Given the description of an element on the screen output the (x, y) to click on. 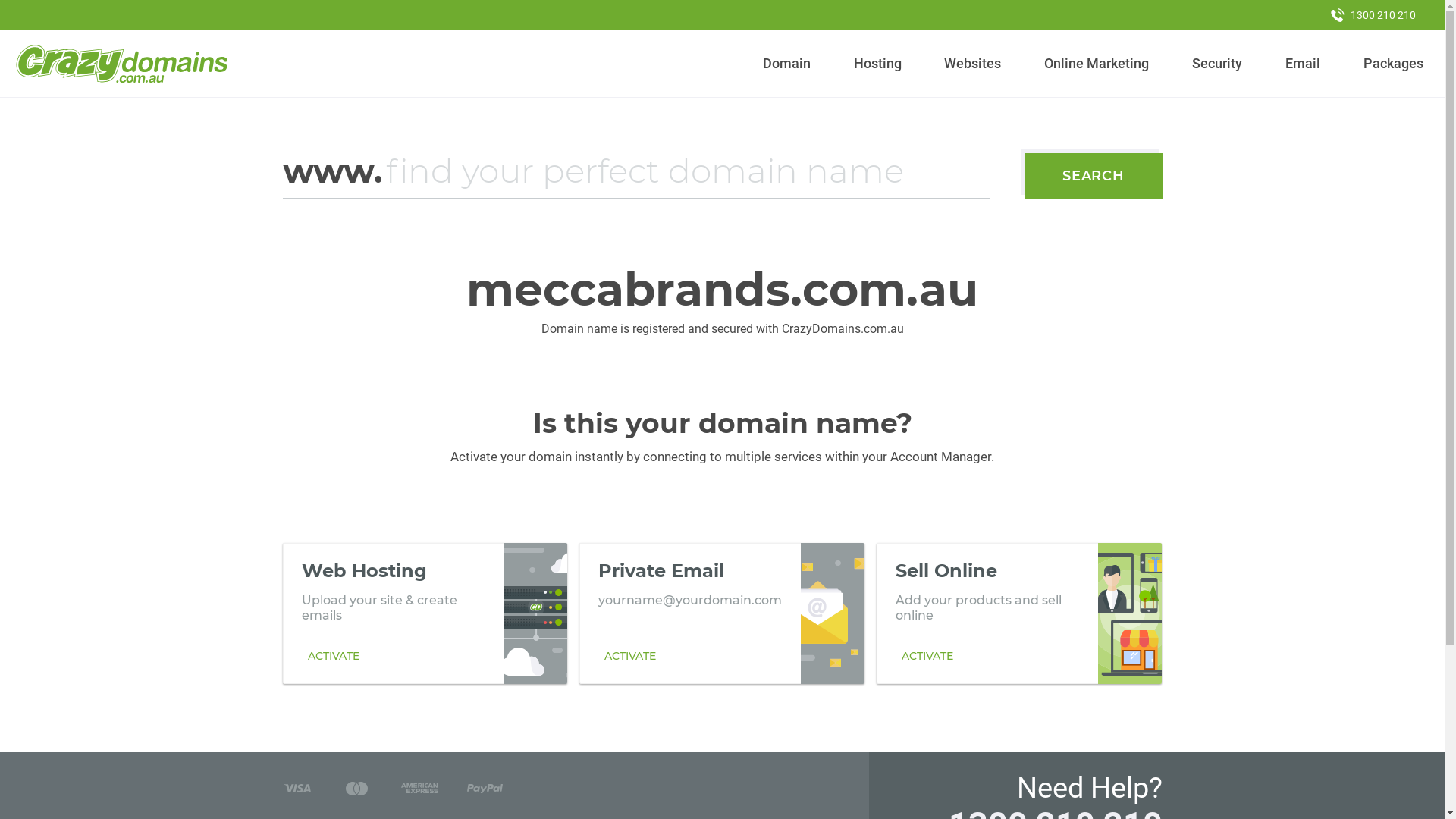
SEARCH Element type: text (1092, 175)
Email Element type: text (1302, 63)
Web Hosting
Upload your site & create emails
ACTIVATE Element type: text (424, 613)
Private Email
yourname@yourdomain.com
ACTIVATE Element type: text (721, 613)
Security Element type: text (1217, 63)
Sell Online
Add your products and sell online
ACTIVATE Element type: text (1018, 613)
Hosting Element type: text (877, 63)
Websites Element type: text (972, 63)
Packages Element type: text (1392, 63)
1300 210 210 Element type: text (1373, 15)
Online Marketing Element type: text (1096, 63)
Domain Element type: text (786, 63)
